Given the description of an element on the screen output the (x, y) to click on. 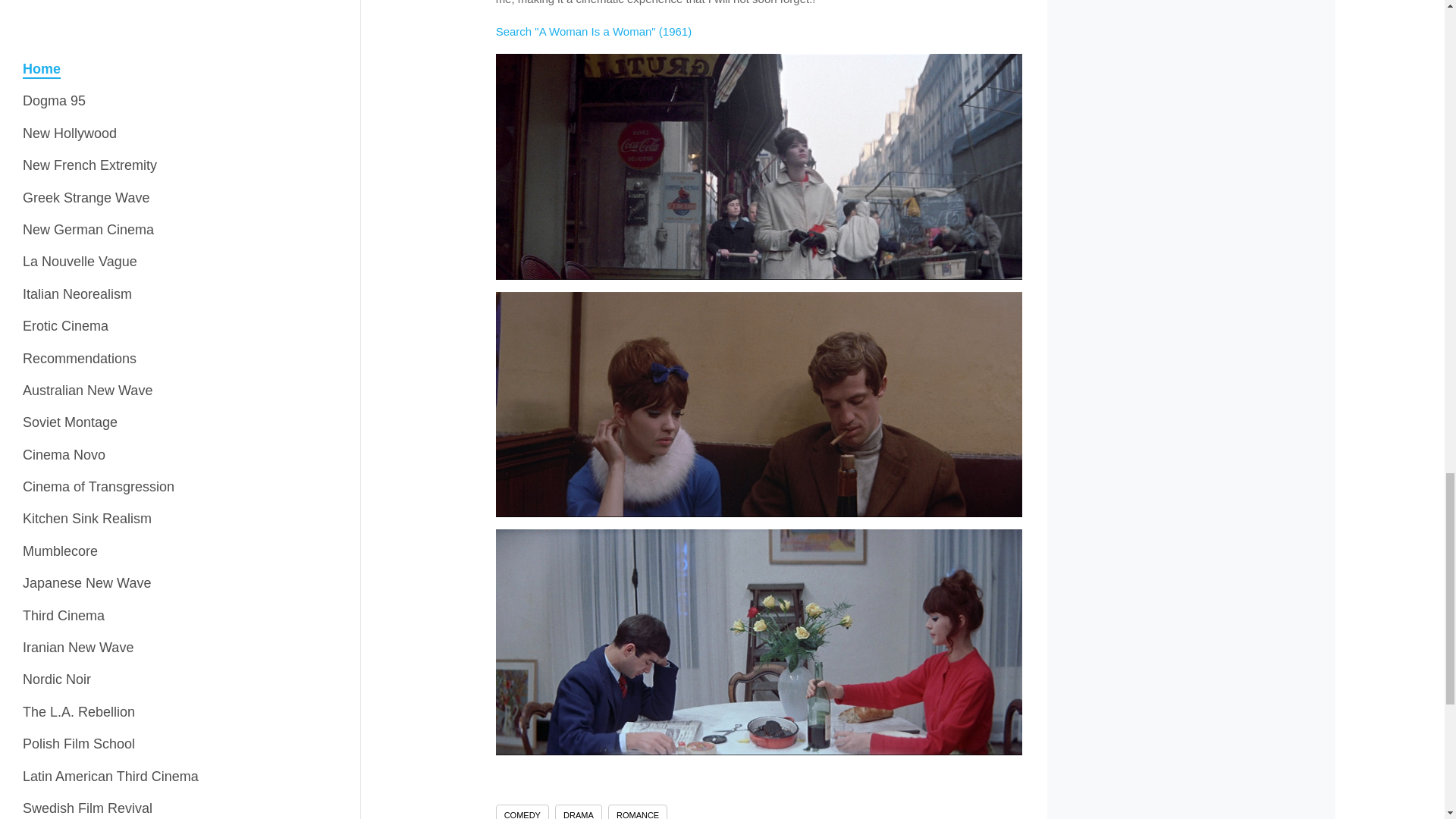
ROMANCE (637, 811)
DRAMA (578, 811)
COMEDY (522, 811)
